Given the description of an element on the screen output the (x, y) to click on. 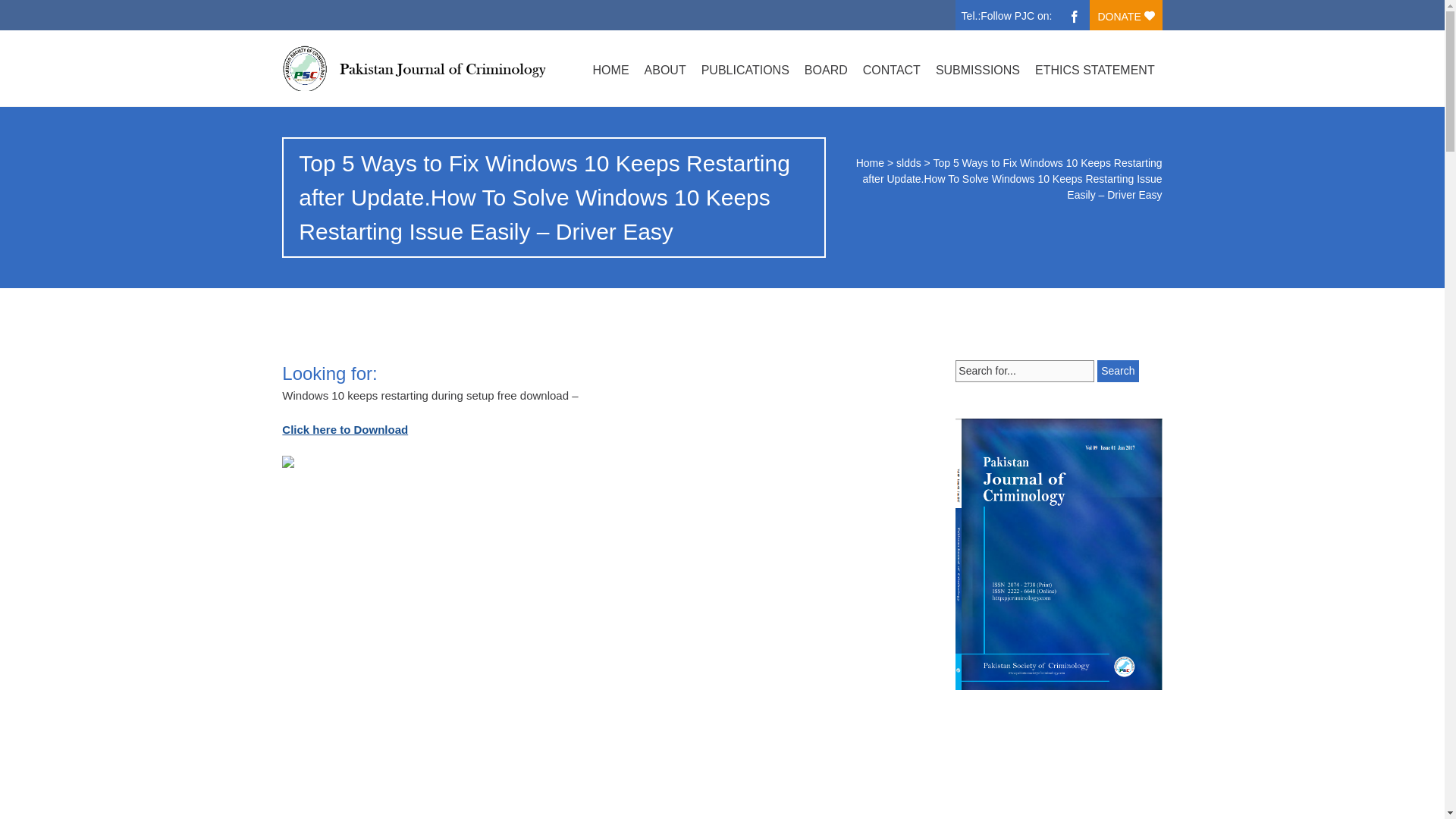
DONATE (1125, 15)
PUBLICATIONS (745, 70)
ABOUT (665, 70)
Click here to Download (344, 429)
BOARD (826, 70)
Tel.:Follow PJC on: (1009, 12)
Pakistan Journal of Criminology -  (413, 67)
Facebook (1074, 15)
Search for... (1024, 371)
CONTACT (892, 70)
Search (1117, 371)
sldds (908, 162)
SUBMISSIONS (977, 70)
Home (869, 162)
ETHICS STATEMENT (1094, 70)
